Given the description of an element on the screen output the (x, y) to click on. 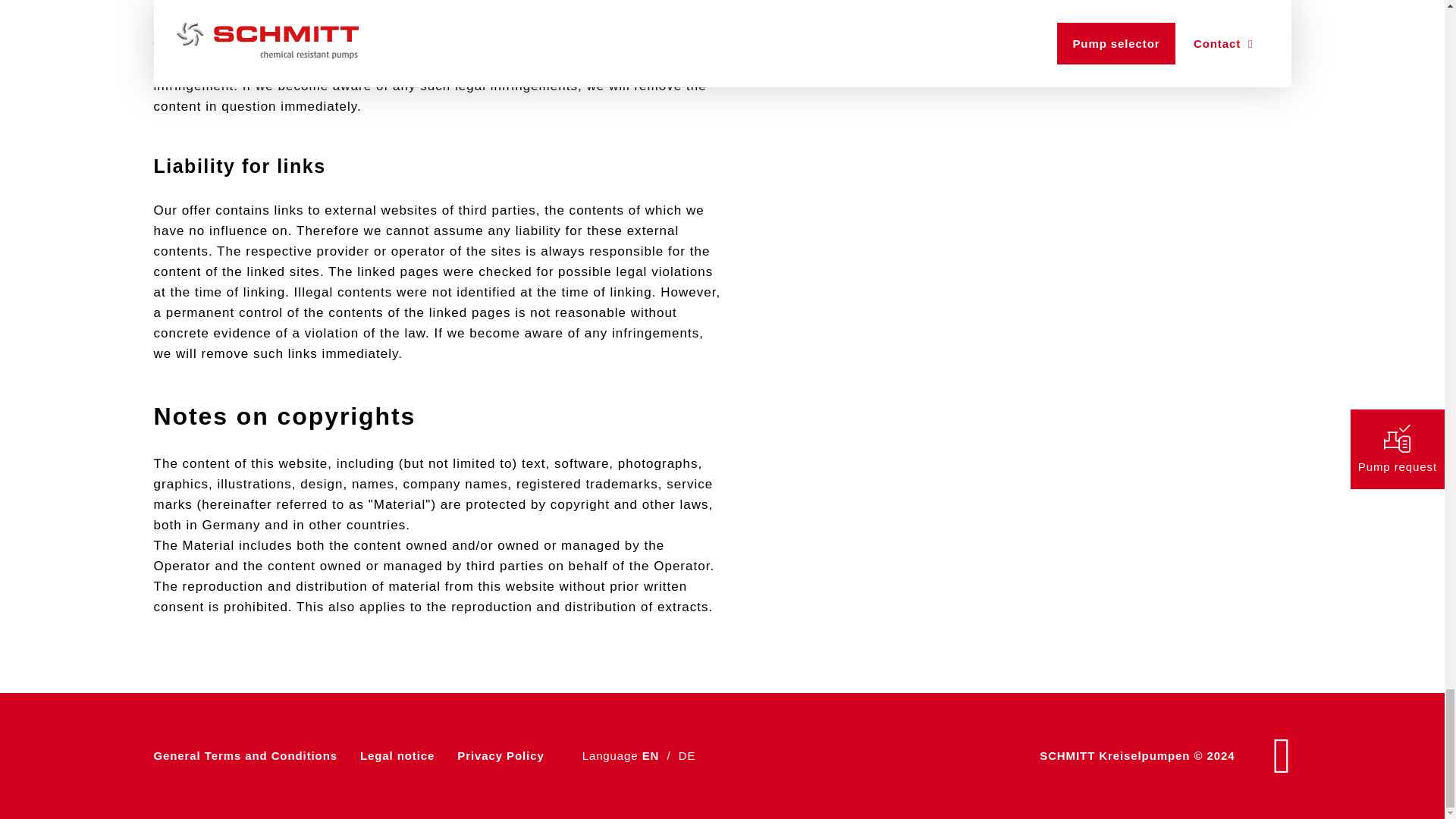
Legal notice (396, 755)
EN (650, 755)
Privacy Policy (500, 755)
General Terms and Conditions (244, 755)
DE (686, 755)
